Given the description of an element on the screen output the (x, y) to click on. 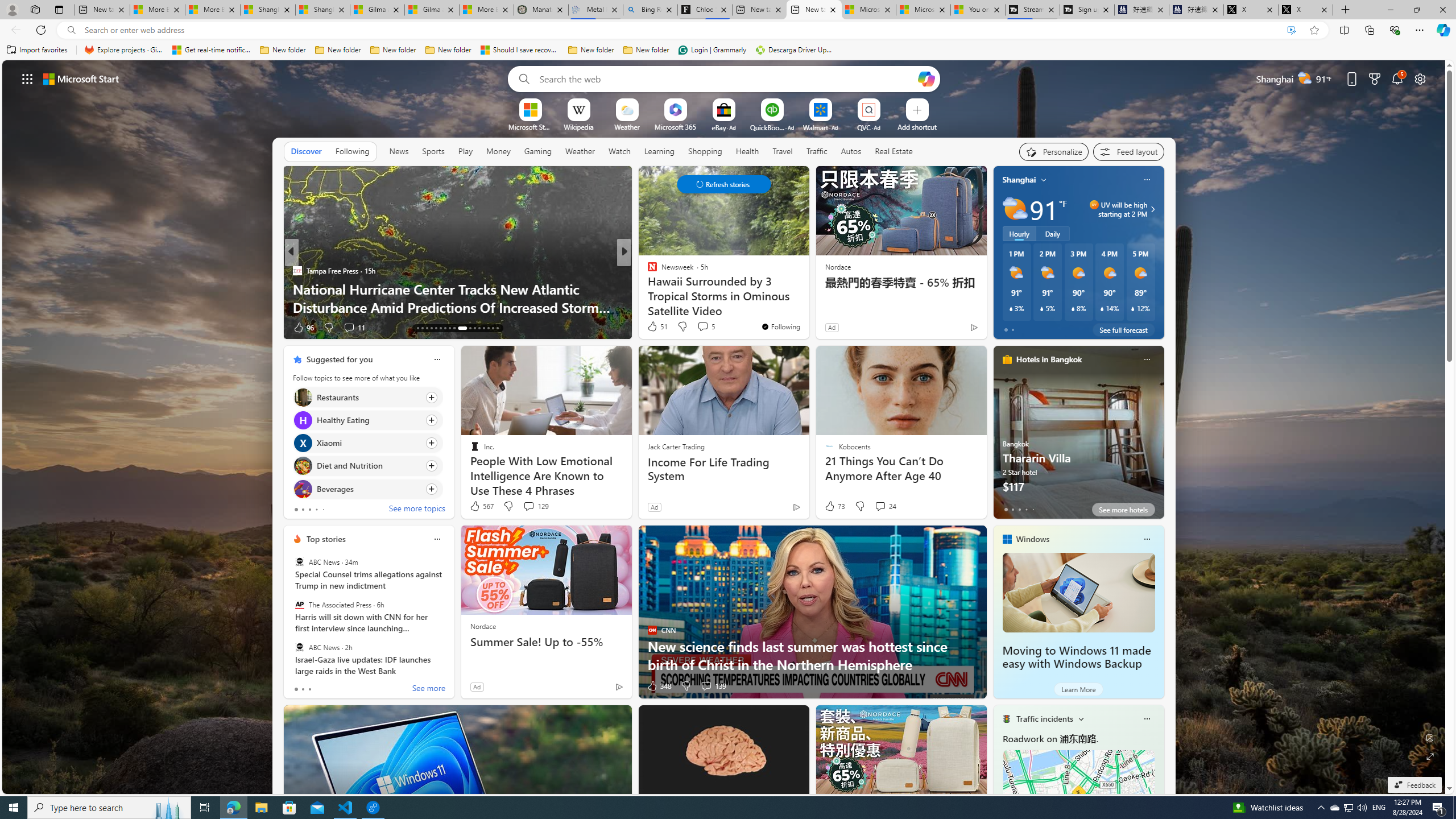
AutomationID: tab-32 (492, 328)
Expand background (1430, 756)
Autos (850, 151)
Daily Caller (647, 270)
Login | Grammarly (712, 49)
348 Like (658, 685)
Favorites bar (728, 49)
96 Like (303, 327)
